Given the description of an element on the screen output the (x, y) to click on. 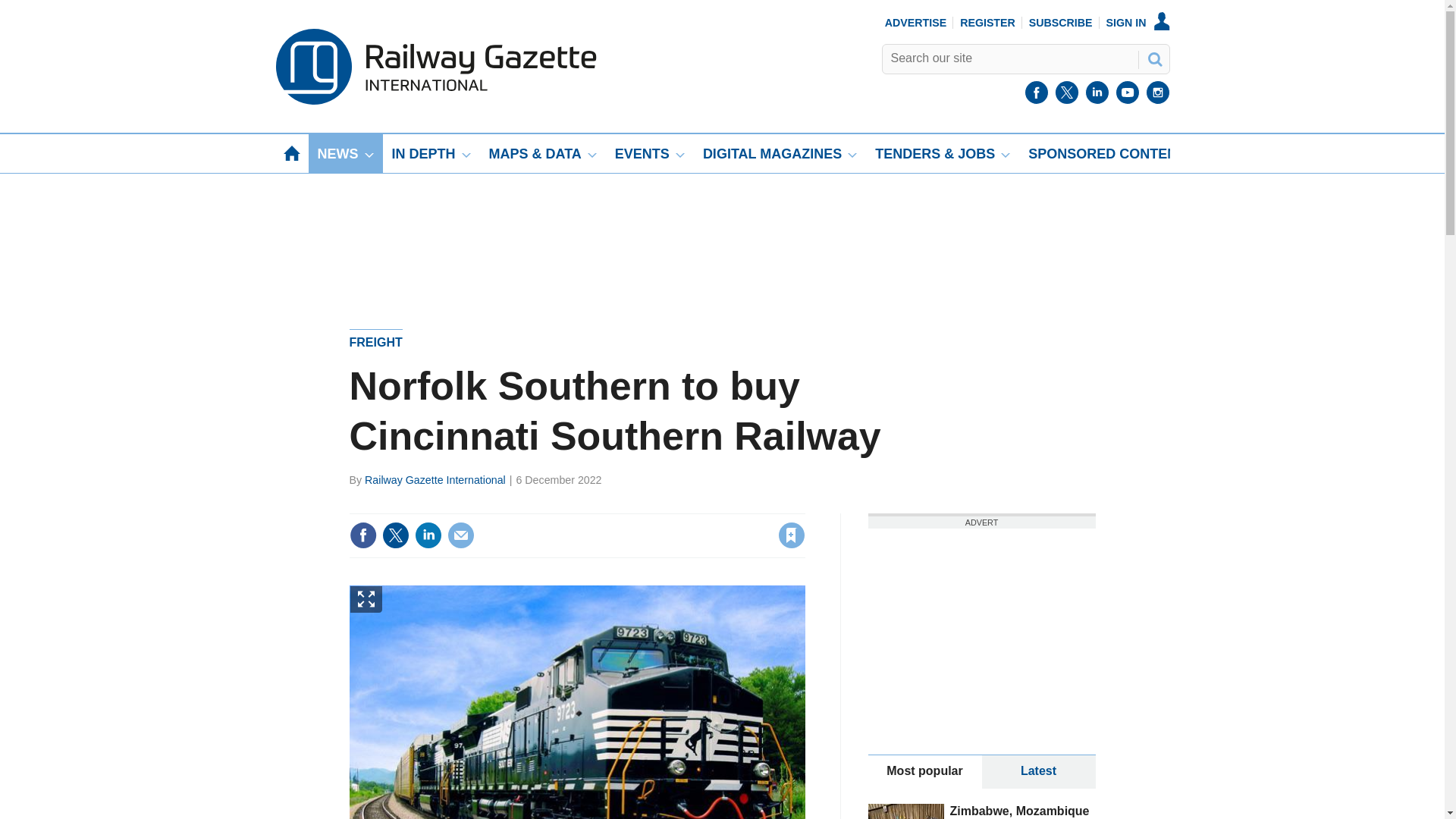
REGISTER (986, 22)
Railway Gazette (435, 101)
SUBSCRIBE (1061, 22)
ADVERTISE (915, 22)
Share this on Linked in (427, 534)
Share this on Facebook (362, 534)
SEARCH (1153, 58)
Share this on Twitter (395, 534)
3rd party ad content (980, 622)
Email this article (460, 534)
